Given the description of an element on the screen output the (x, y) to click on. 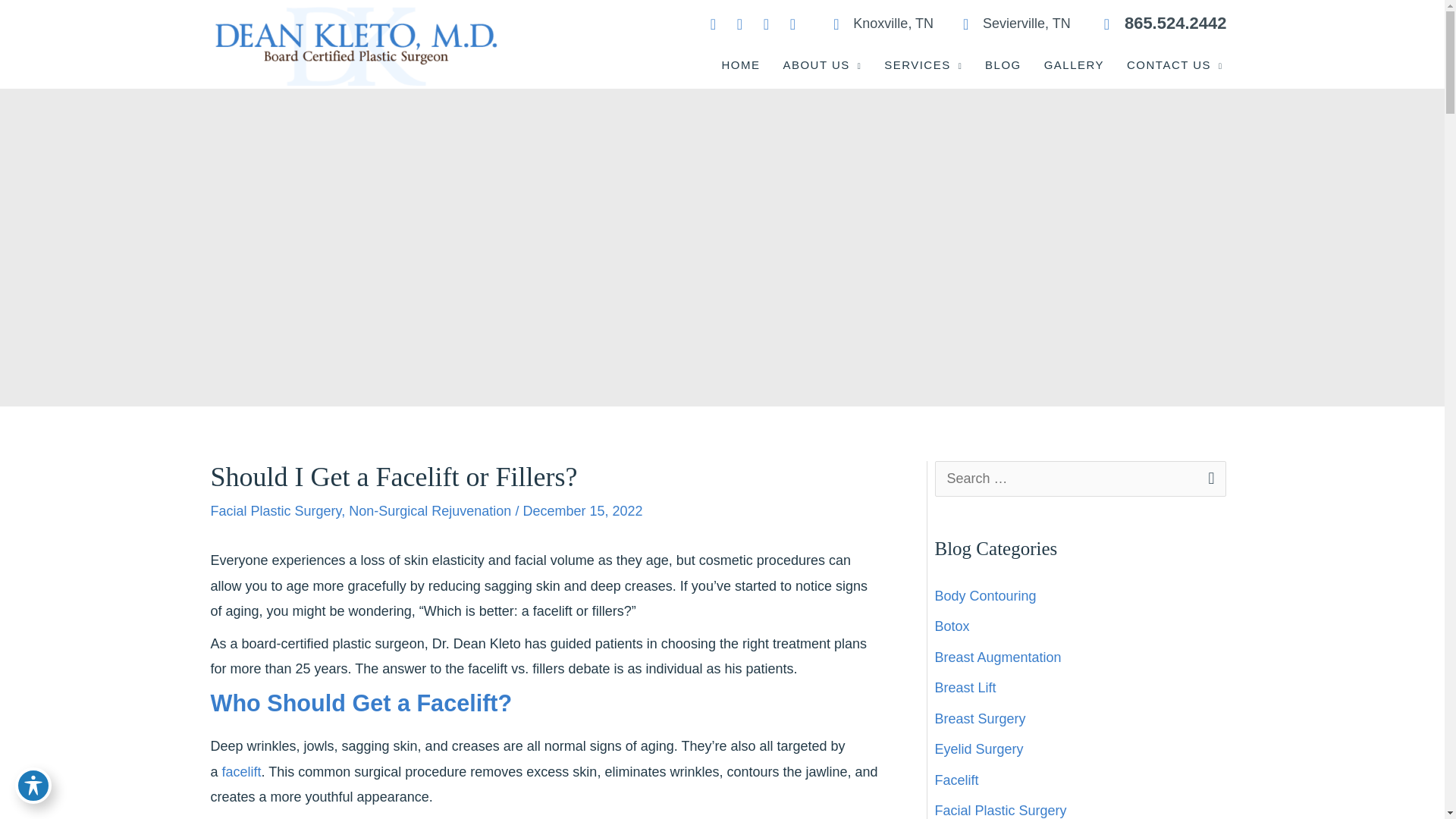
HOME (740, 64)
865.524.2442 (1156, 23)
Sevierville, TN (1009, 23)
Knoxville, TN (875, 23)
ABOUT US (821, 64)
SERVICES (923, 64)
